Given the description of an element on the screen output the (x, y) to click on. 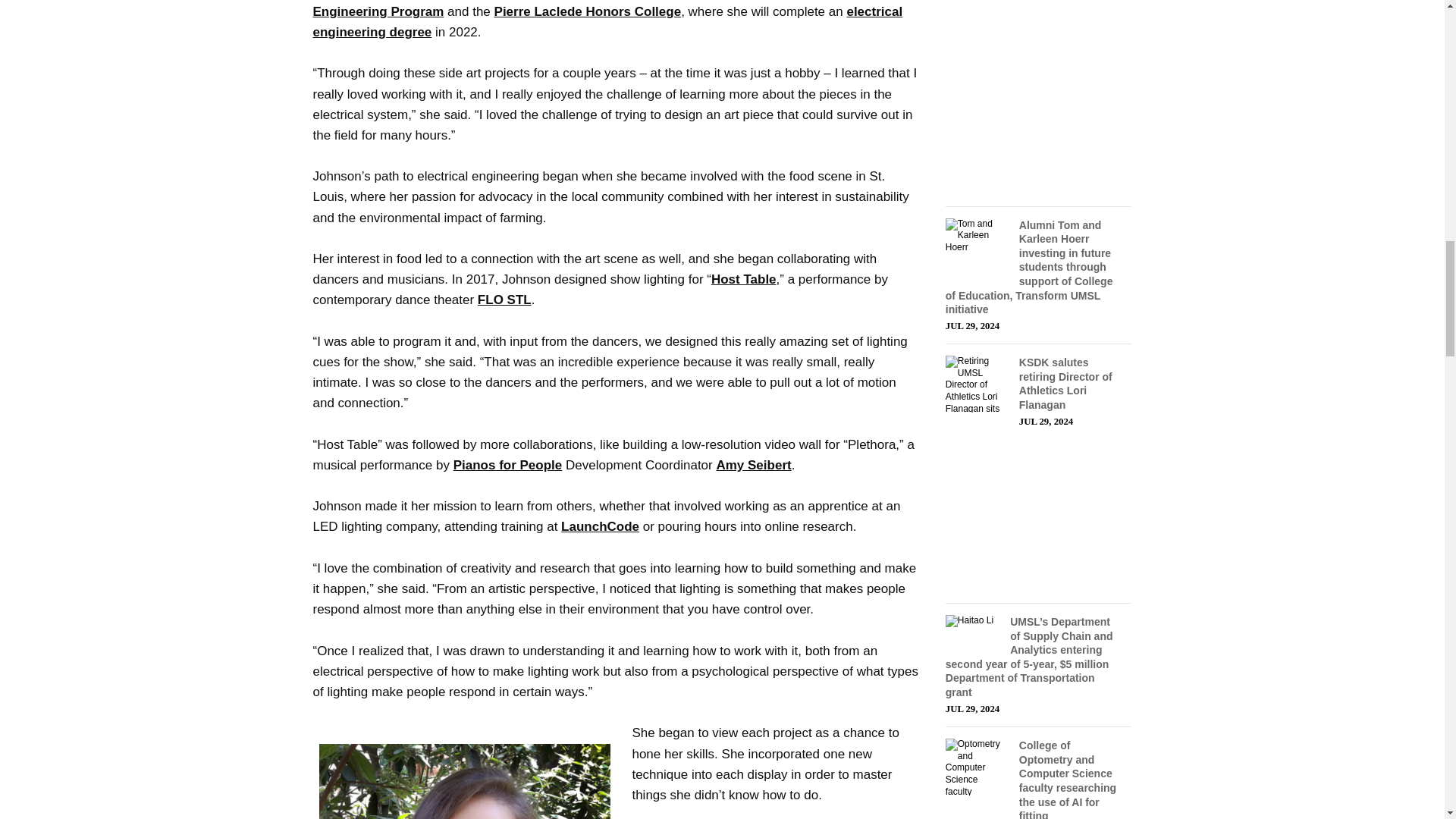
LaunchCode (599, 526)
FLO STL (504, 299)
Pierre Laclede Honors College (588, 11)
Amy Seibert (753, 464)
electrical engineering degree (607, 21)
Pianos for People (507, 464)
Host Table (743, 278)
Joint Undergraduate Engineering Program (586, 9)
KSDK salutes retiring Director of Athletics Lori Flanagan (1065, 383)
